Given the description of an element on the screen output the (x, y) to click on. 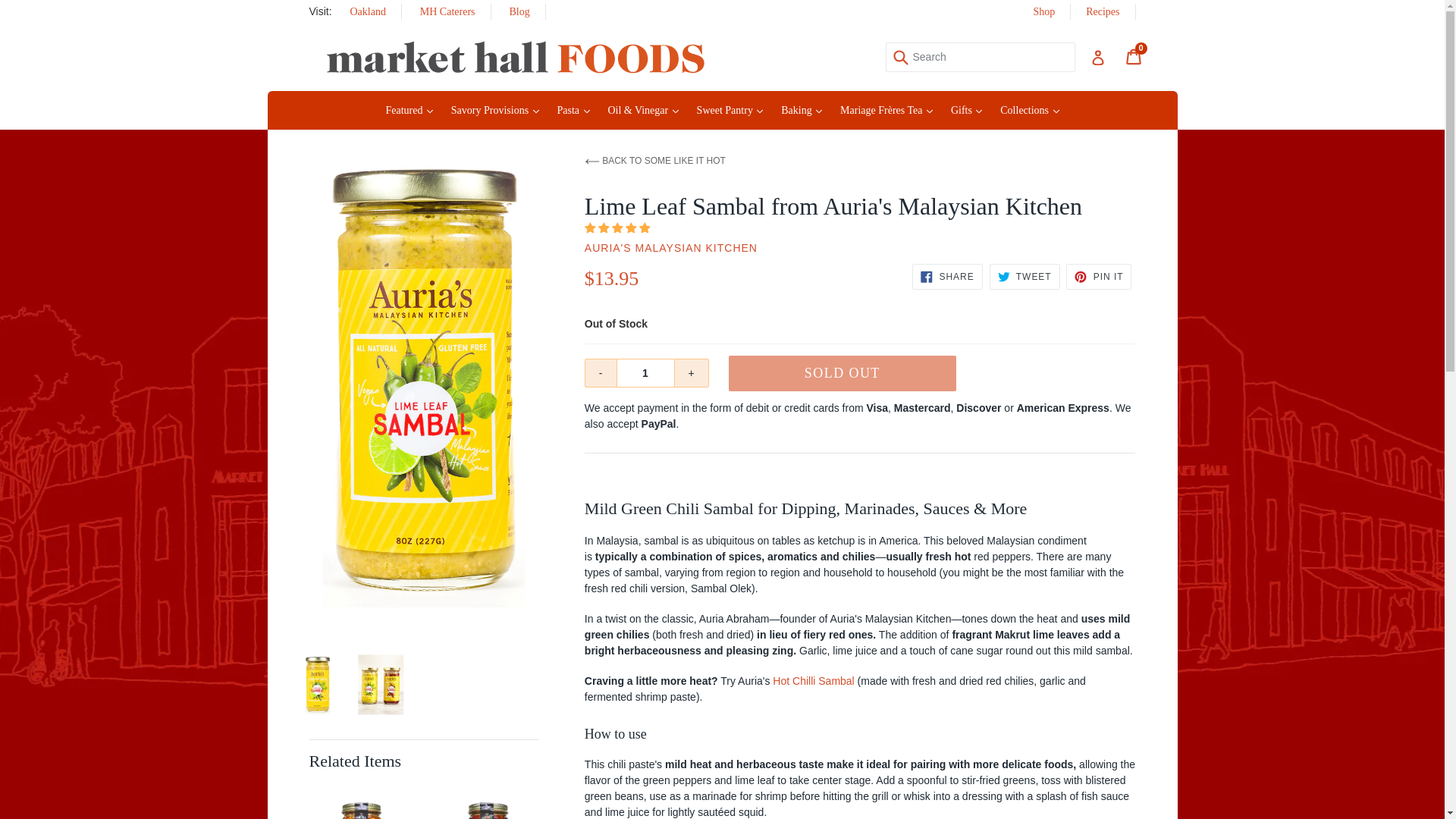
1 (645, 372)
Hot Chilli Sambal from Auria's Malaysian Kitchen (813, 680)
Share on Facebook (946, 276)
Pin on Pinterest (1098, 276)
Tweet on Twitter (1024, 276)
- (601, 372)
